Given the description of an element on the screen output the (x, y) to click on. 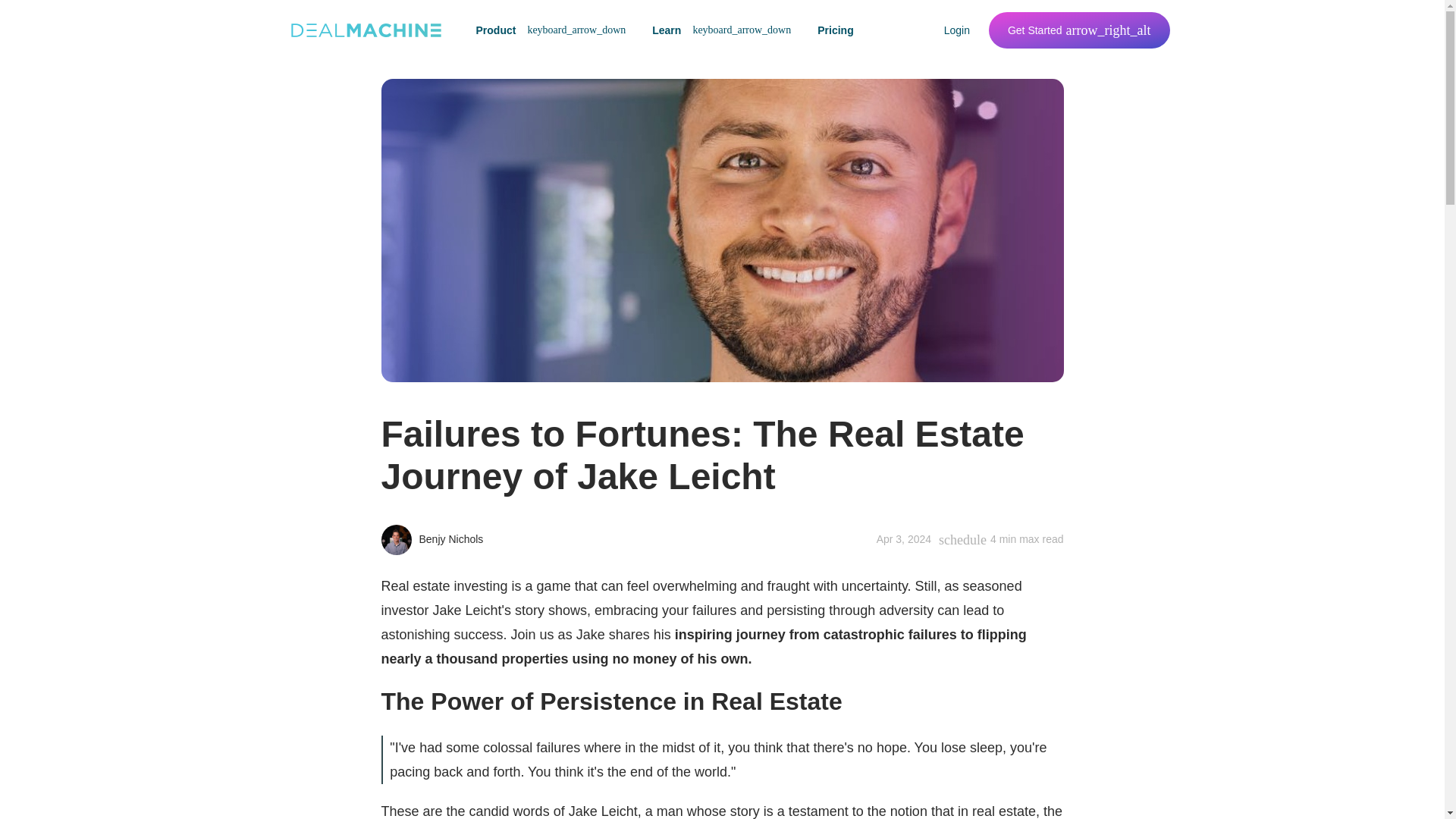
DealMachine (365, 30)
Login (957, 30)
Pricing (835, 30)
